Given the description of an element on the screen output the (x, y) to click on. 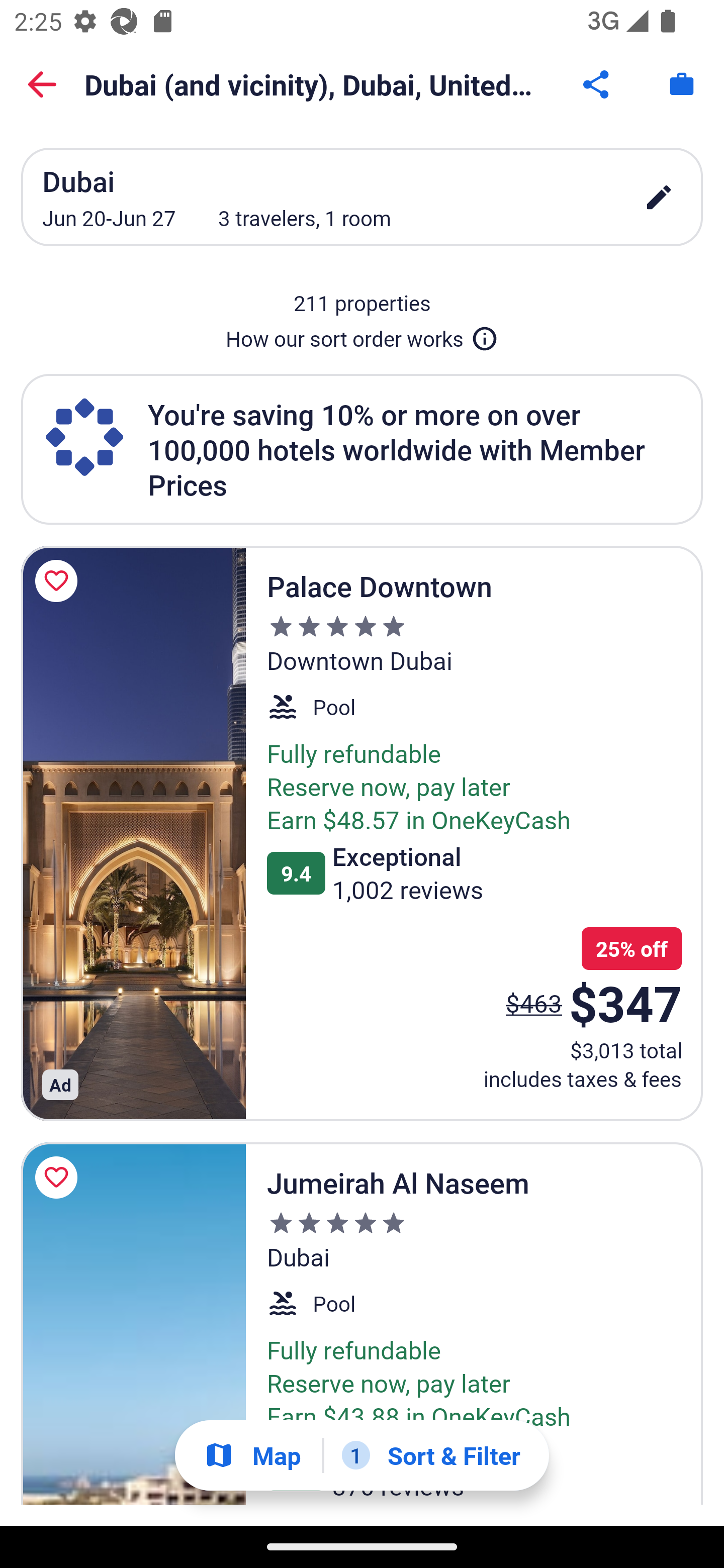
Back (42, 84)
Share Button (597, 84)
Trips. Button (681, 84)
Dubai Jun 20-Jun 27 3 travelers, 1 room edit (361, 196)
How our sort order works (361, 334)
Save Palace Downtown to a trip (59, 580)
Palace Downtown (133, 833)
$463 The price was $463 (533, 1003)
Save Jumeirah Al Naseem to a trip (59, 1177)
Jumeirah Al Naseem (133, 1324)
1 Sort & Filter 1 Filter applied. Filters Button (430, 1455)
Show map Map Show map Button (252, 1455)
